Given the description of an element on the screen output the (x, y) to click on. 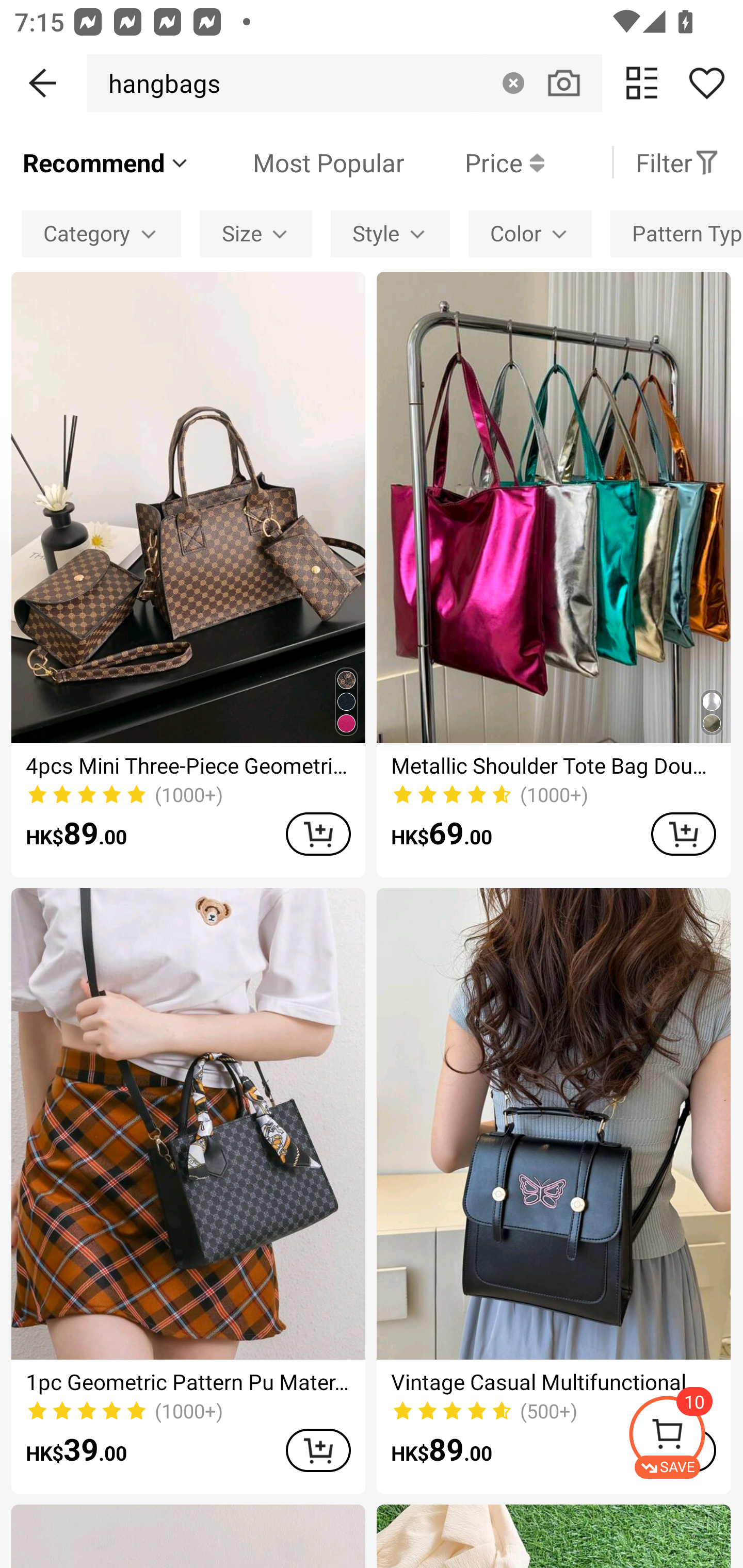
hangbags Clear (343, 82)
hangbags (158, 82)
Clear (513, 82)
change view (641, 82)
Share (706, 82)
Recommend (106, 162)
Most Popular (297, 162)
Price (474, 162)
Filter (677, 162)
Category (101, 233)
Size (255, 233)
Style (390, 233)
Color (530, 233)
Pattern Type (676, 233)
ADD TO CART (318, 834)
ADD TO CART (683, 834)
SAVE (685, 1436)
ADD TO CART (318, 1450)
